Given the description of an element on the screen output the (x, y) to click on. 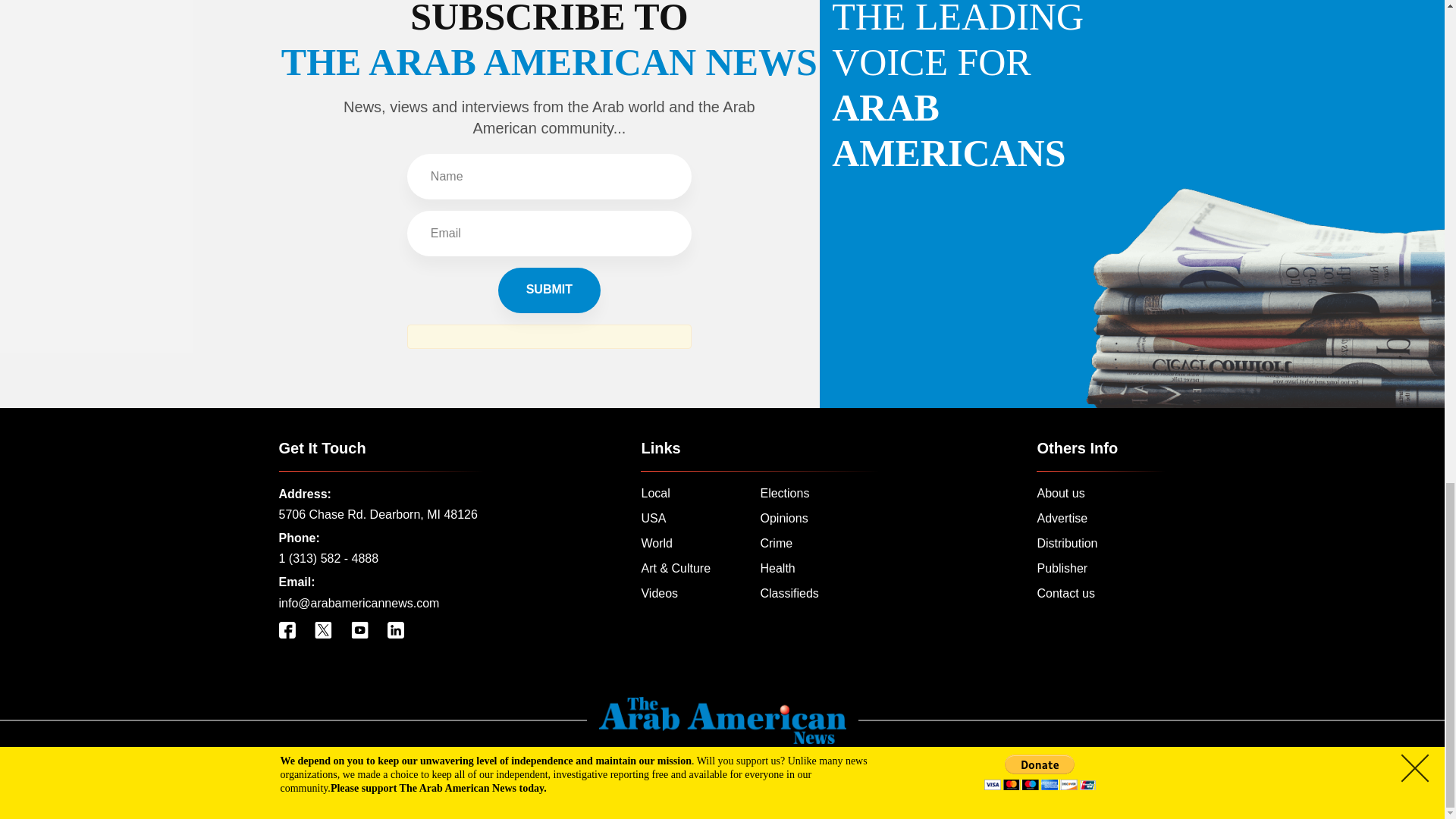
Submit (548, 289)
